Given the description of an element on the screen output the (x, y) to click on. 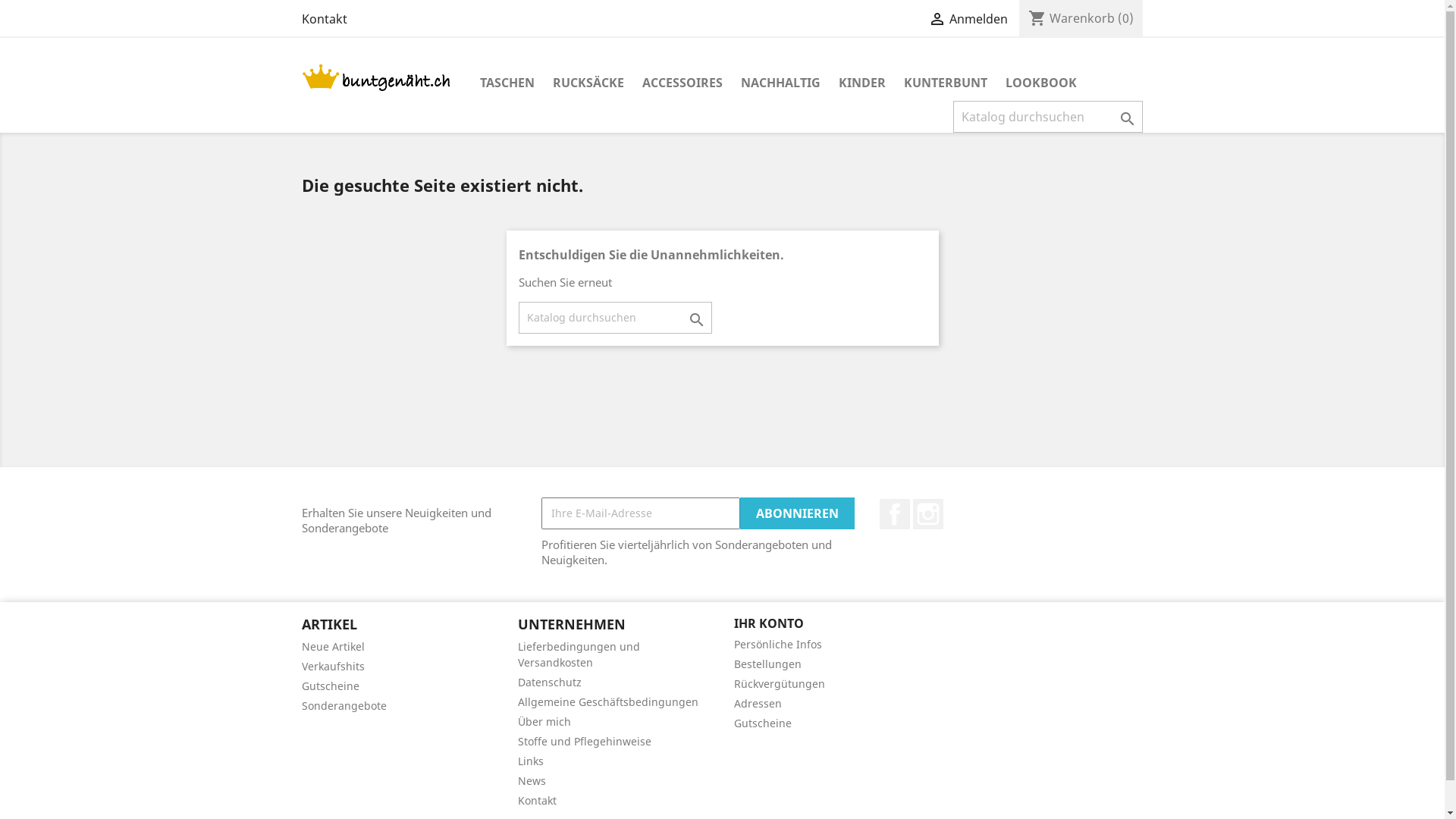
IHR KONTO Element type: text (768, 623)
Neue Artikel Element type: text (332, 646)
Links Element type: text (529, 760)
LOOKBOOK Element type: text (1040, 83)
TASCHEN Element type: text (506, 83)
Verkaufshits Element type: text (332, 665)
Abonnieren Element type: text (797, 513)
KINDER Element type: text (862, 83)
Adressen Element type: text (757, 703)
Gutscheine Element type: text (330, 685)
Instagram Element type: text (928, 513)
Datenschutz Element type: text (548, 681)
KUNTERBUNT Element type: text (945, 83)
NACHHALTIG Element type: text (779, 83)
ACCESSOIRES Element type: text (681, 83)
Gutscheine Element type: text (762, 722)
Facebook Element type: text (894, 513)
Stoffe und Pflegehinweise Element type: text (583, 741)
Bestellungen Element type: text (767, 663)
News Element type: text (531, 780)
Kontakt Element type: text (324, 18)
Kontakt Element type: text (536, 800)
Lieferbedingungen und Versandkosten Element type: text (578, 654)
Sonderangebote Element type: text (343, 705)
